Given the description of an element on the screen output the (x, y) to click on. 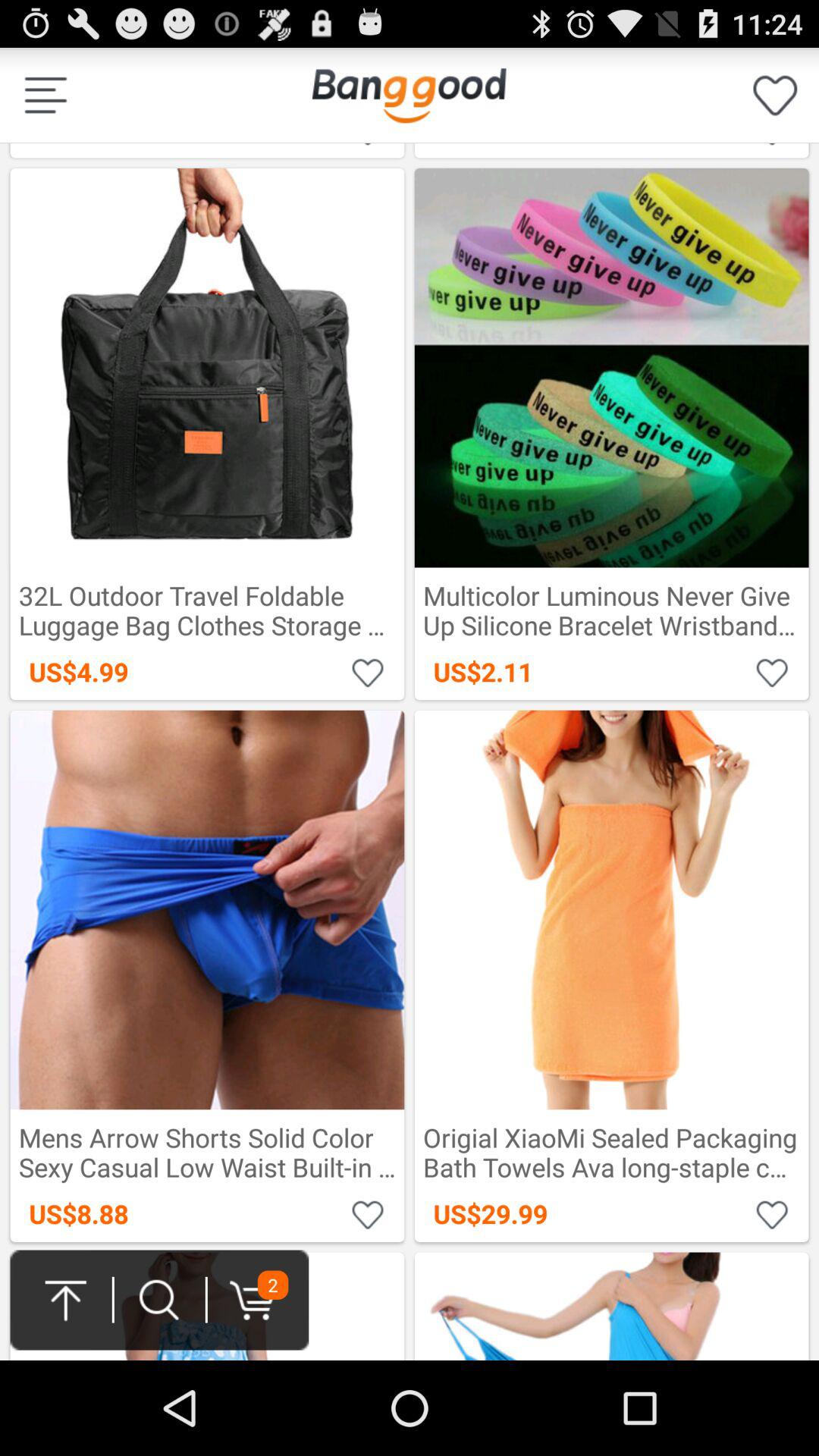
like this product (368, 1213)
